Given the description of an element on the screen output the (x, y) to click on. 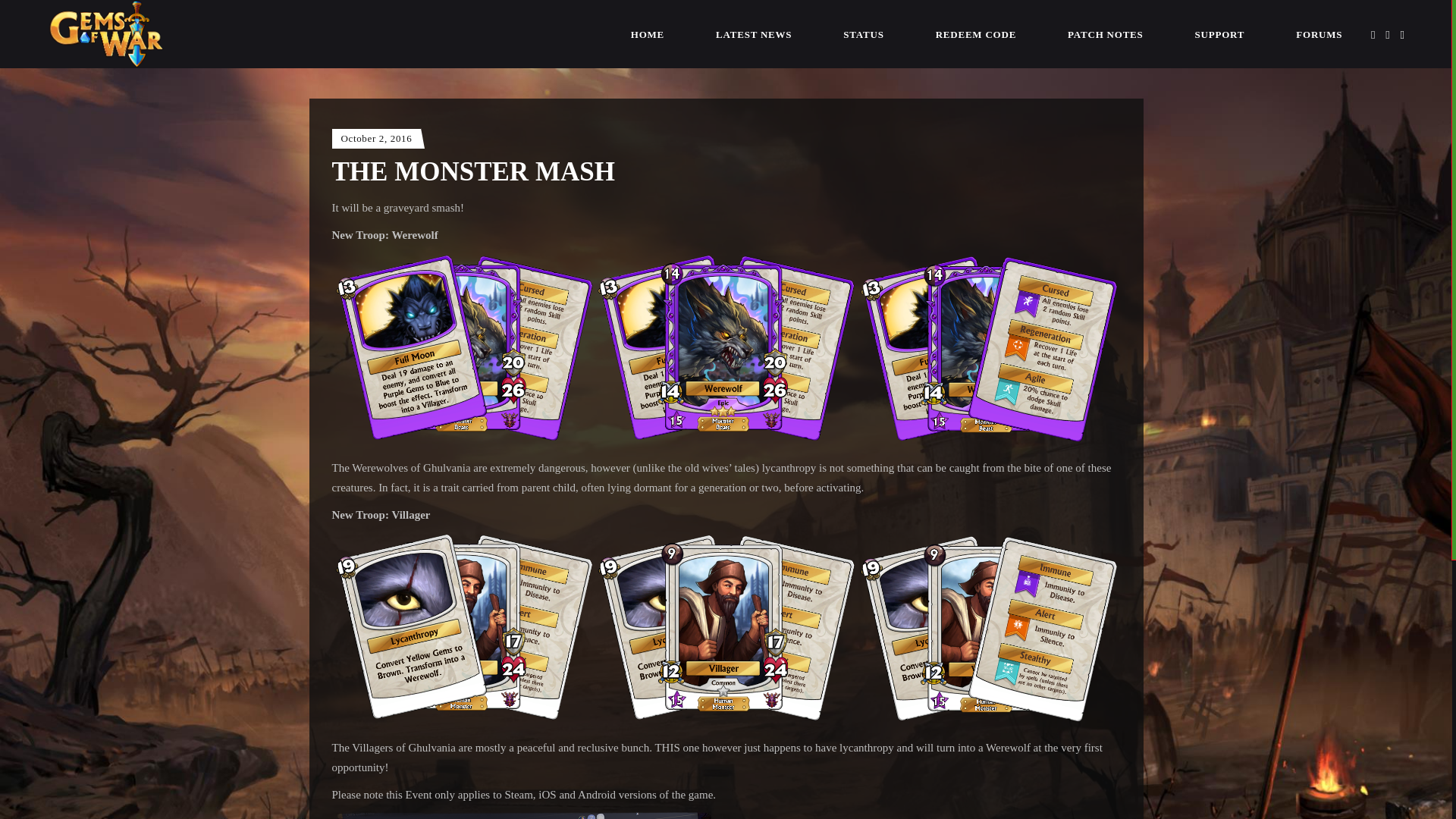
STATUS (863, 33)
REDEEM CODE (975, 33)
PATCH NOTES (1105, 33)
FORUMS (1318, 33)
LATEST NEWS (753, 33)
SUPPORT (1220, 33)
HOME (647, 33)
October 2, 2016 (376, 138)
